Given the description of an element on the screen output the (x, y) to click on. 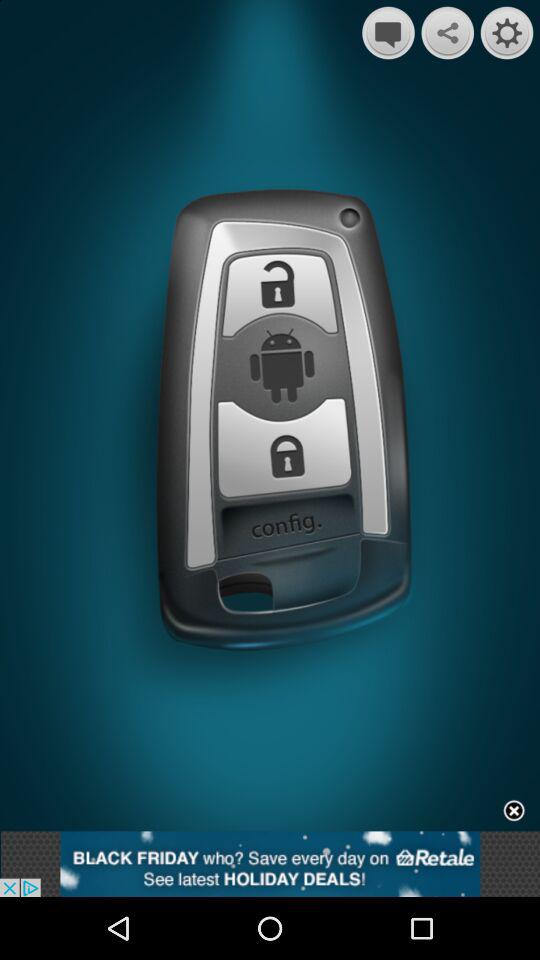
share option (447, 32)
